Given the description of an element on the screen output the (x, y) to click on. 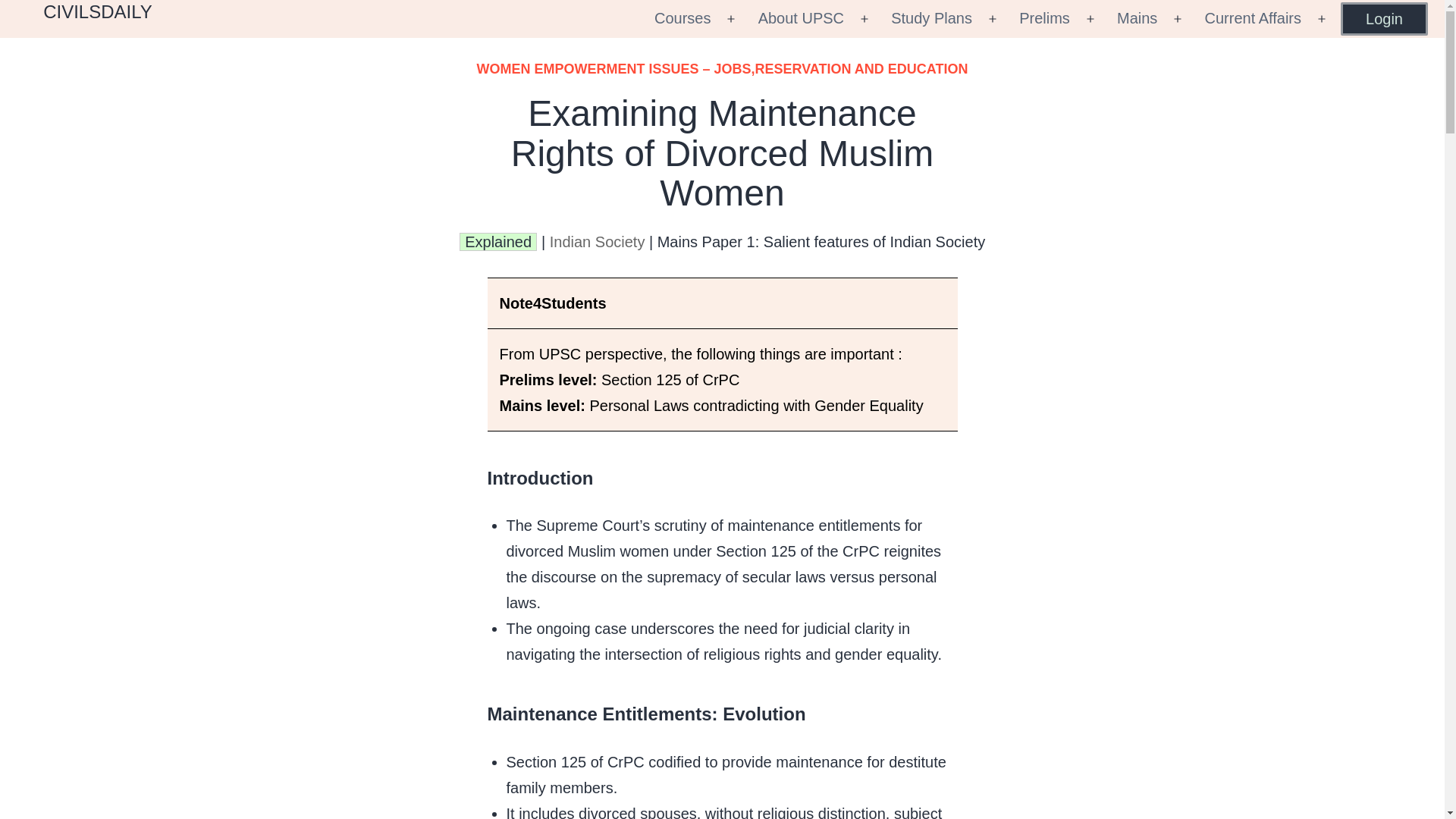
About UPSC (800, 18)
Courses (682, 18)
Mains (1136, 18)
CIVILSDAILY (97, 11)
Current Affairs (1252, 18)
Prelims (1044, 18)
Study Plans (930, 18)
